Given the description of an element on the screen output the (x, y) to click on. 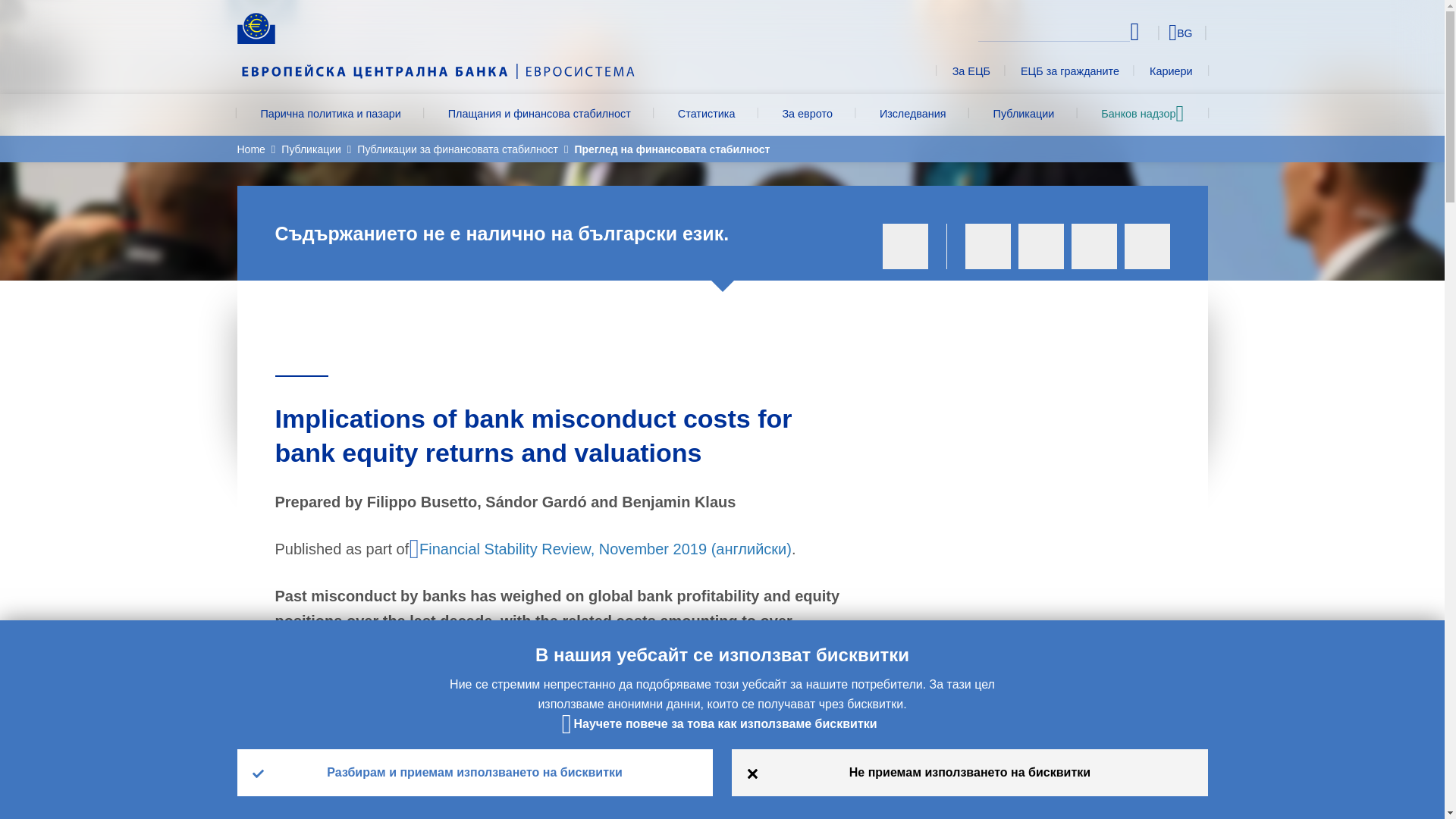
Select language (1153, 32)
